Given the description of an element on the screen output the (x, y) to click on. 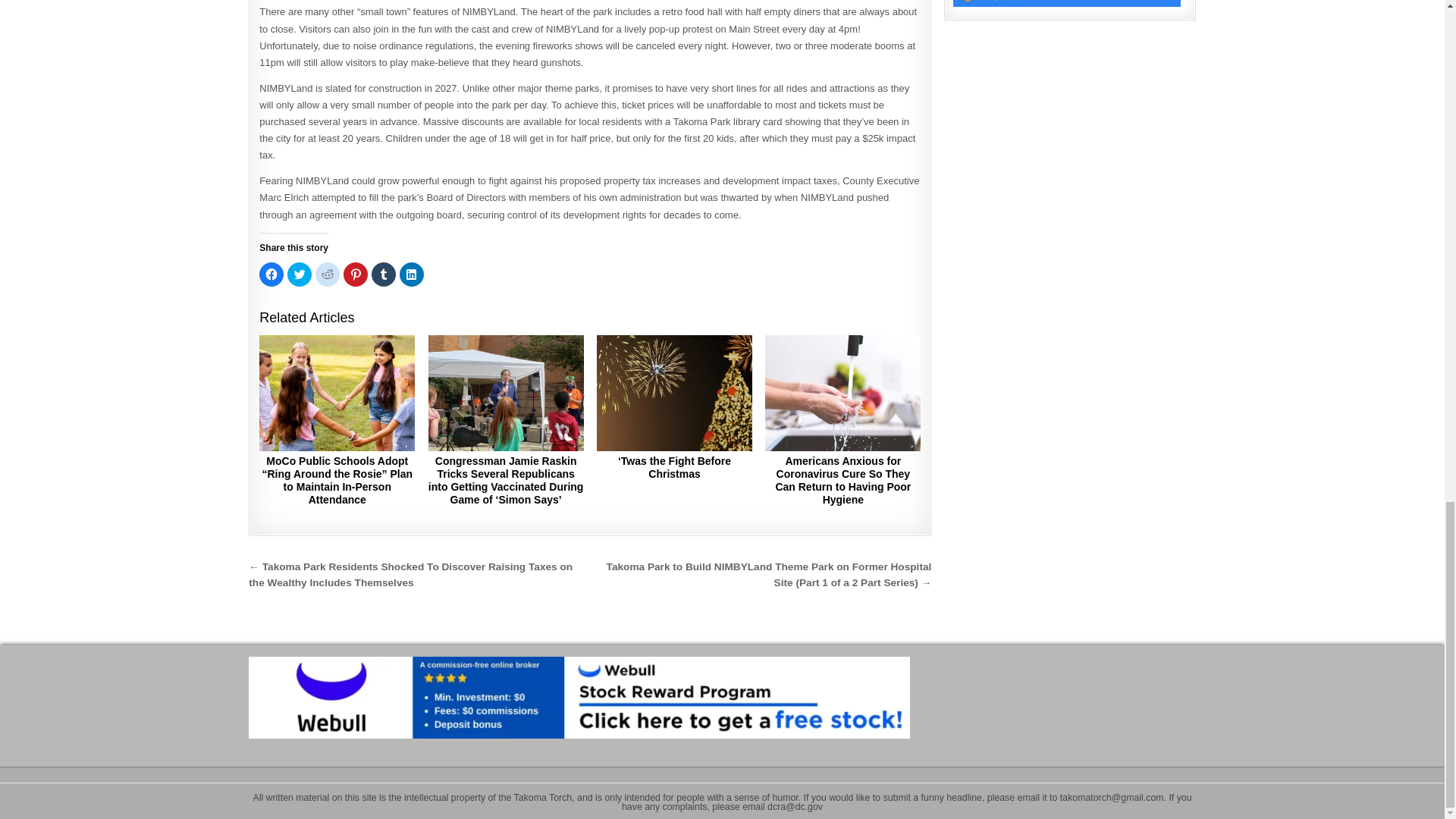
Click to share on Facebook (271, 274)
Click to share on Twitter (298, 274)
Click to share on Tumblr (383, 274)
Click to share on Pinterest (355, 274)
Click to share on LinkedIn (410, 274)
Click to share on Reddit (327, 274)
